Given the description of an element on the screen output the (x, y) to click on. 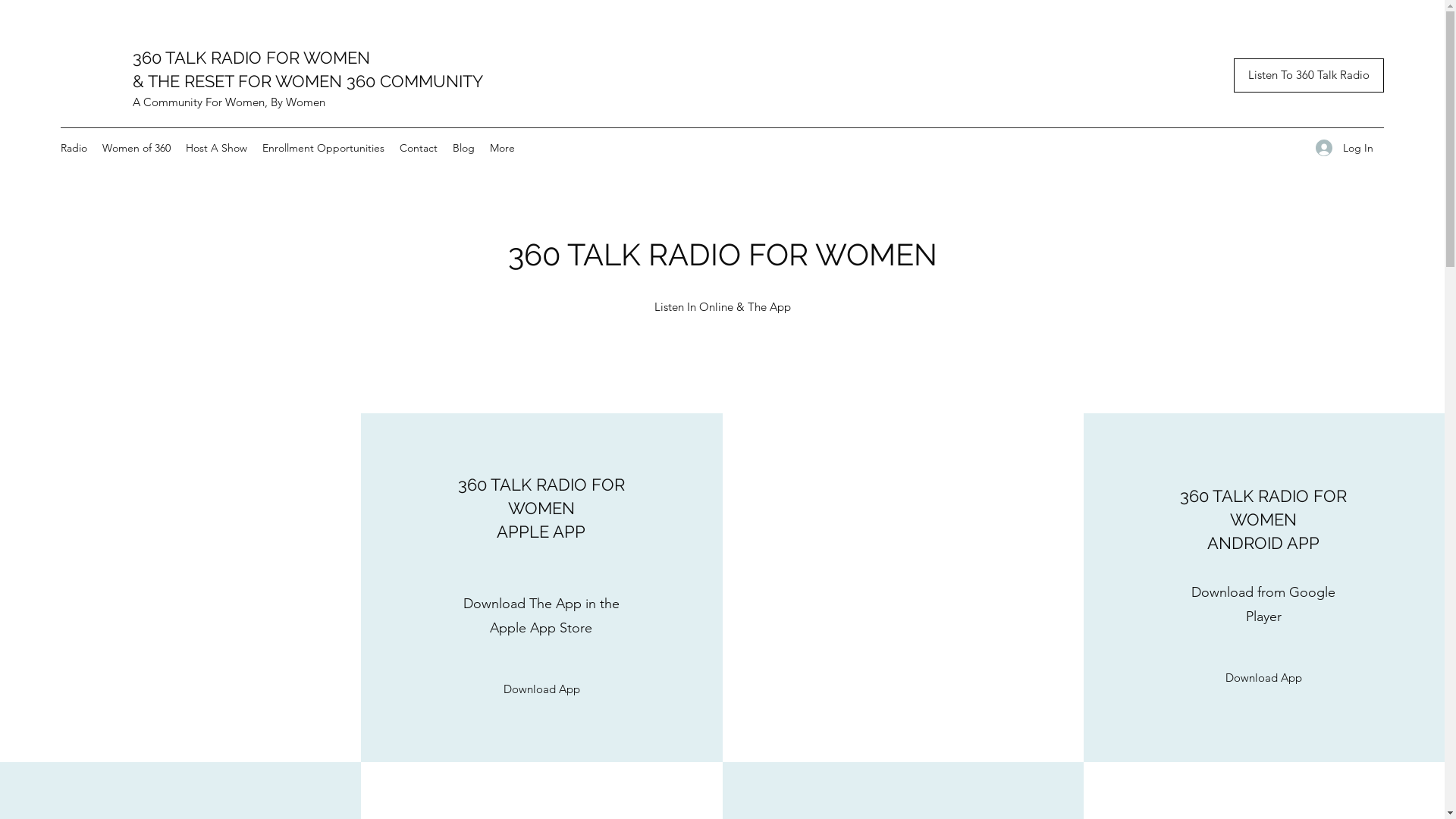
Contact Element type: text (418, 147)
Download App Element type: text (1263, 677)
Radio Element type: text (73, 147)
& THE RESET FOR WOMEN 360 COMMUNITY Element type: text (307, 81)
Listen To 360 Talk Radio Element type: text (1308, 75)
Enrollment Opportunities Element type: text (323, 147)
Host A Show Element type: text (216, 147)
Blog Element type: text (463, 147)
Women of 360 Element type: text (136, 147)
Download App Element type: text (541, 688)
360 TALK RADIO FOR WOMEN Element type: text (251, 57)
Log In Element type: text (1344, 148)
